Given the description of an element on the screen output the (x, y) to click on. 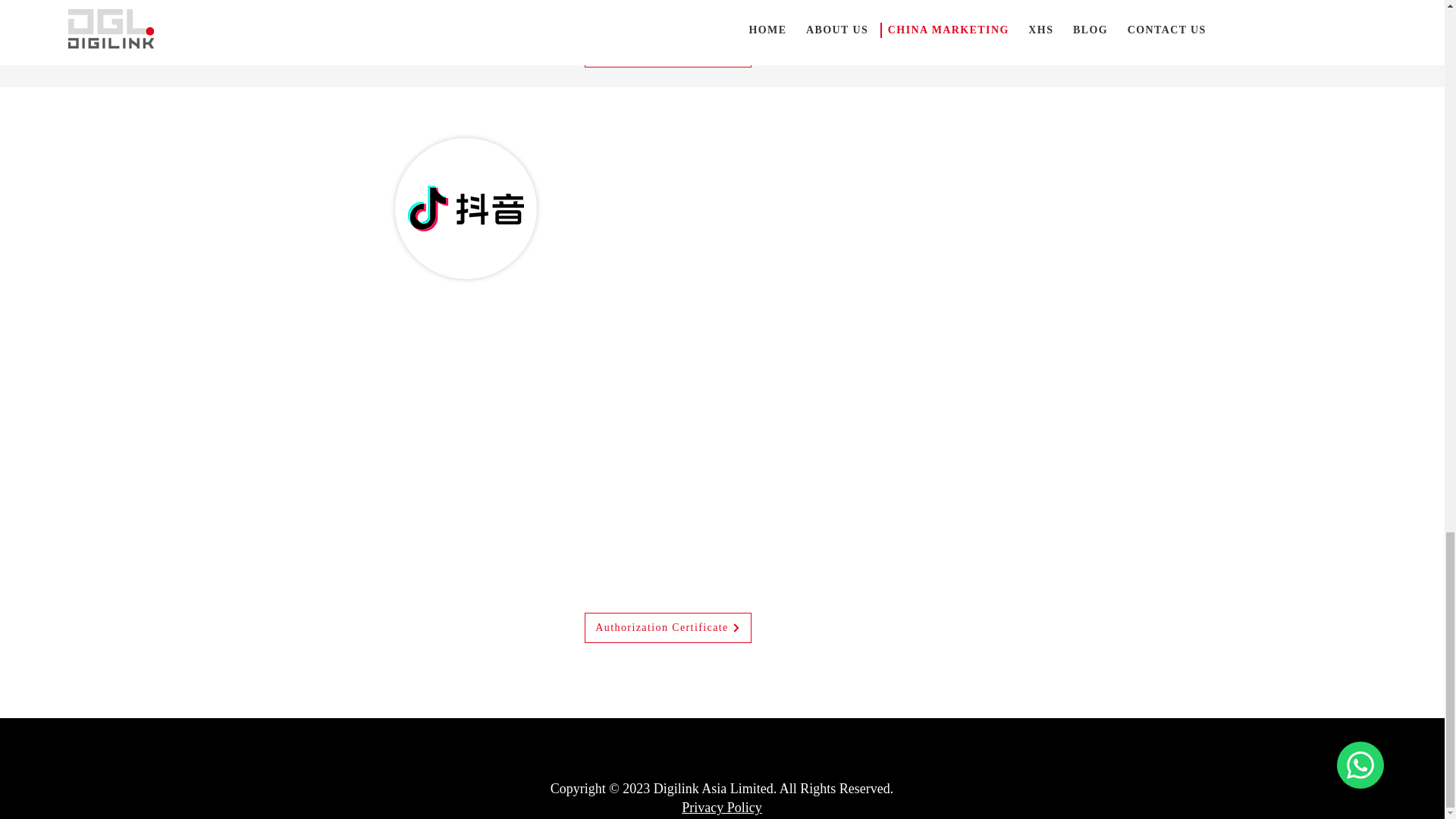
10002.png (465, 207)
Authorization Certificate (668, 627)
Privacy Policy (721, 807)
Authorization Certificate (668, 51)
